Given the description of an element on the screen output the (x, y) to click on. 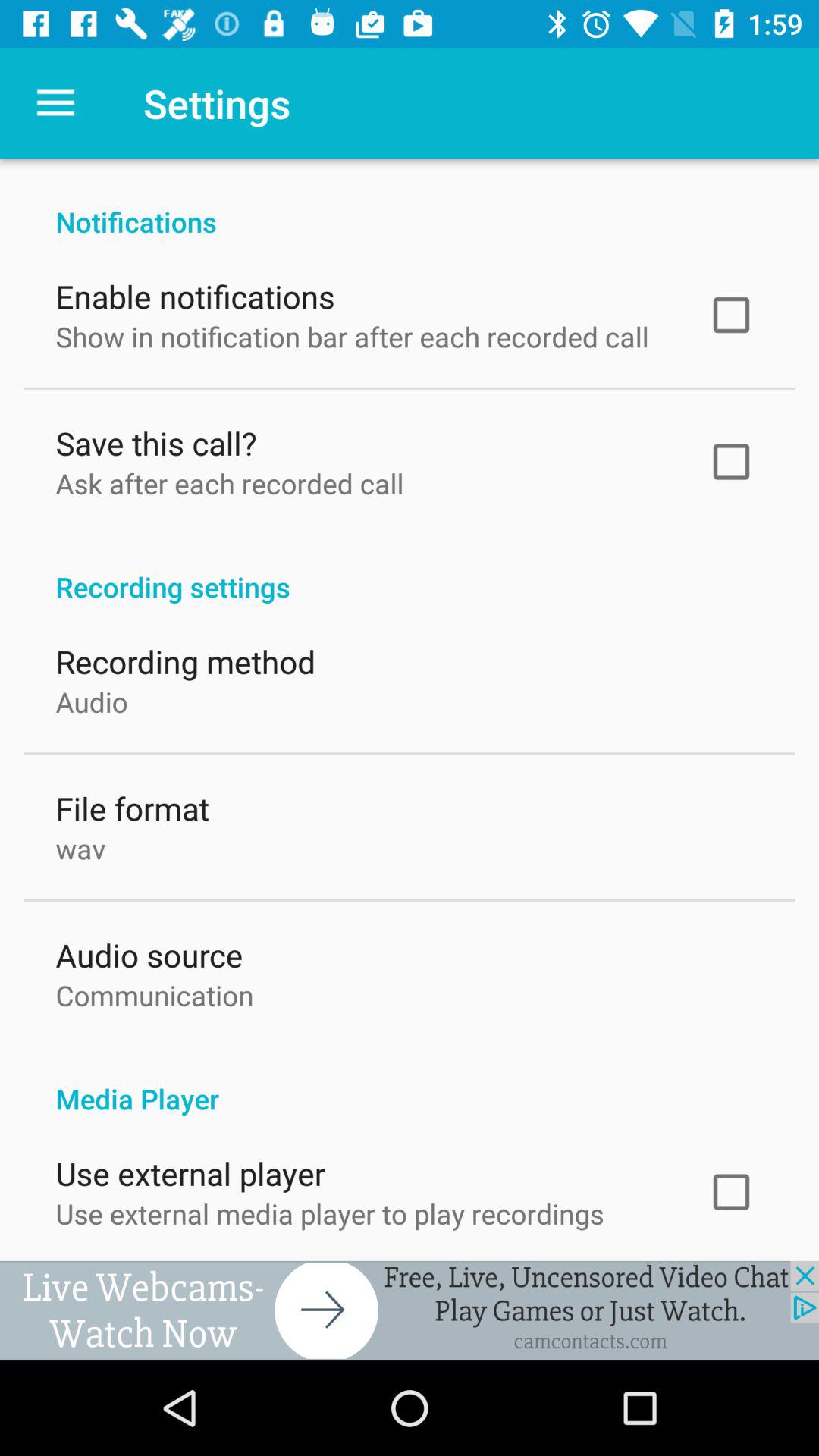
click save this call? item (155, 439)
